Given the description of an element on the screen output the (x, y) to click on. 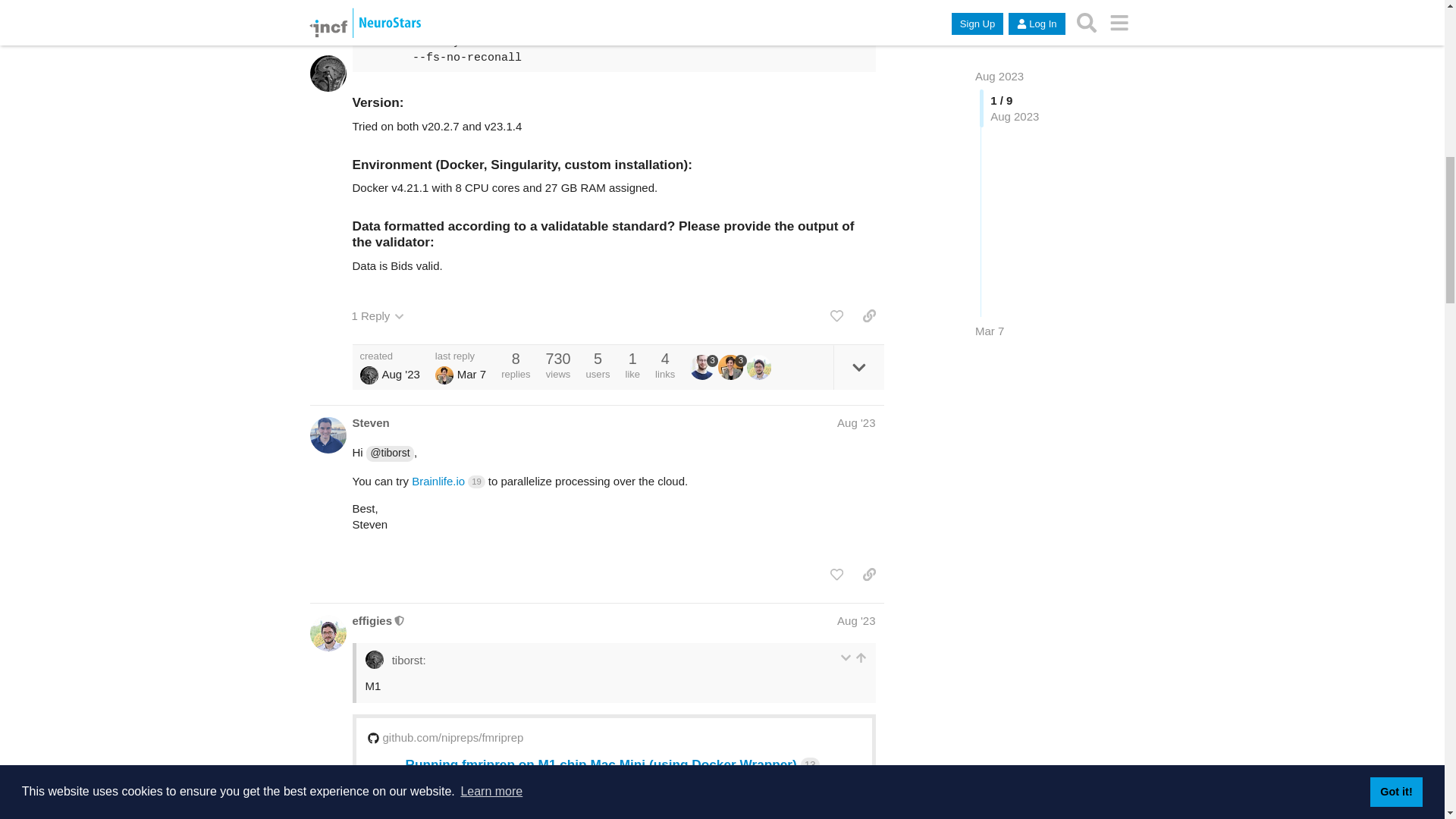
share a link to this post (869, 316)
Steffen Bollmann (702, 366)
expand topic details (857, 366)
Mar 7, 2024 11:04 pm (471, 373)
3 (703, 366)
stebo85 (703, 366)
Aug 31, 2023 8:23 pm (400, 373)
last reply (460, 356)
1 Reply (377, 315)
Tibor S. (368, 375)
Steven (370, 422)
Aug '23 (856, 422)
like this post (836, 316)
3 (731, 366)
Brainlife.io 19 (448, 481)
